Given the description of an element on the screen output the (x, y) to click on. 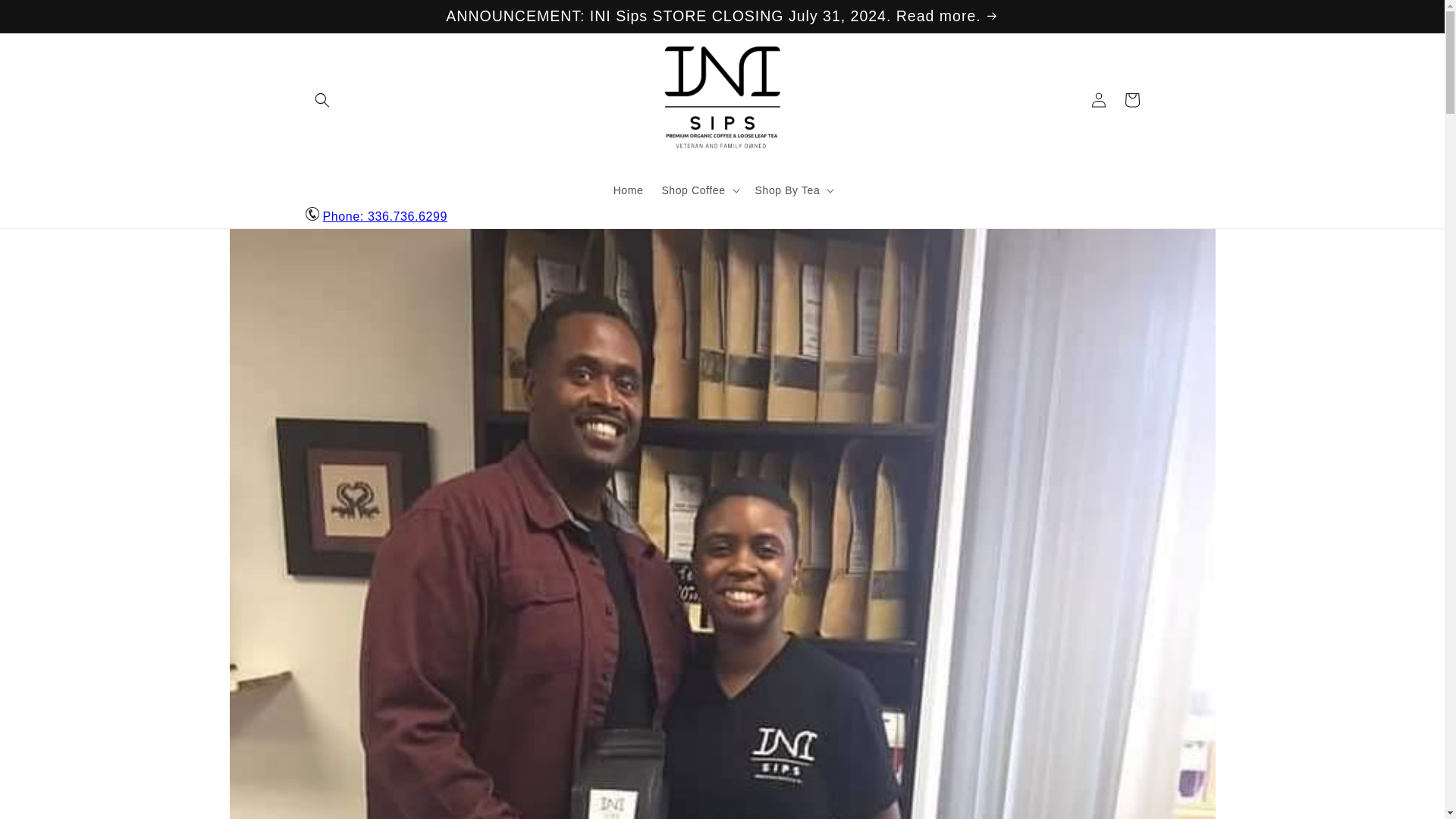
Home (628, 190)
Skip to content (45, 17)
